Given the description of an element on the screen output the (x, y) to click on. 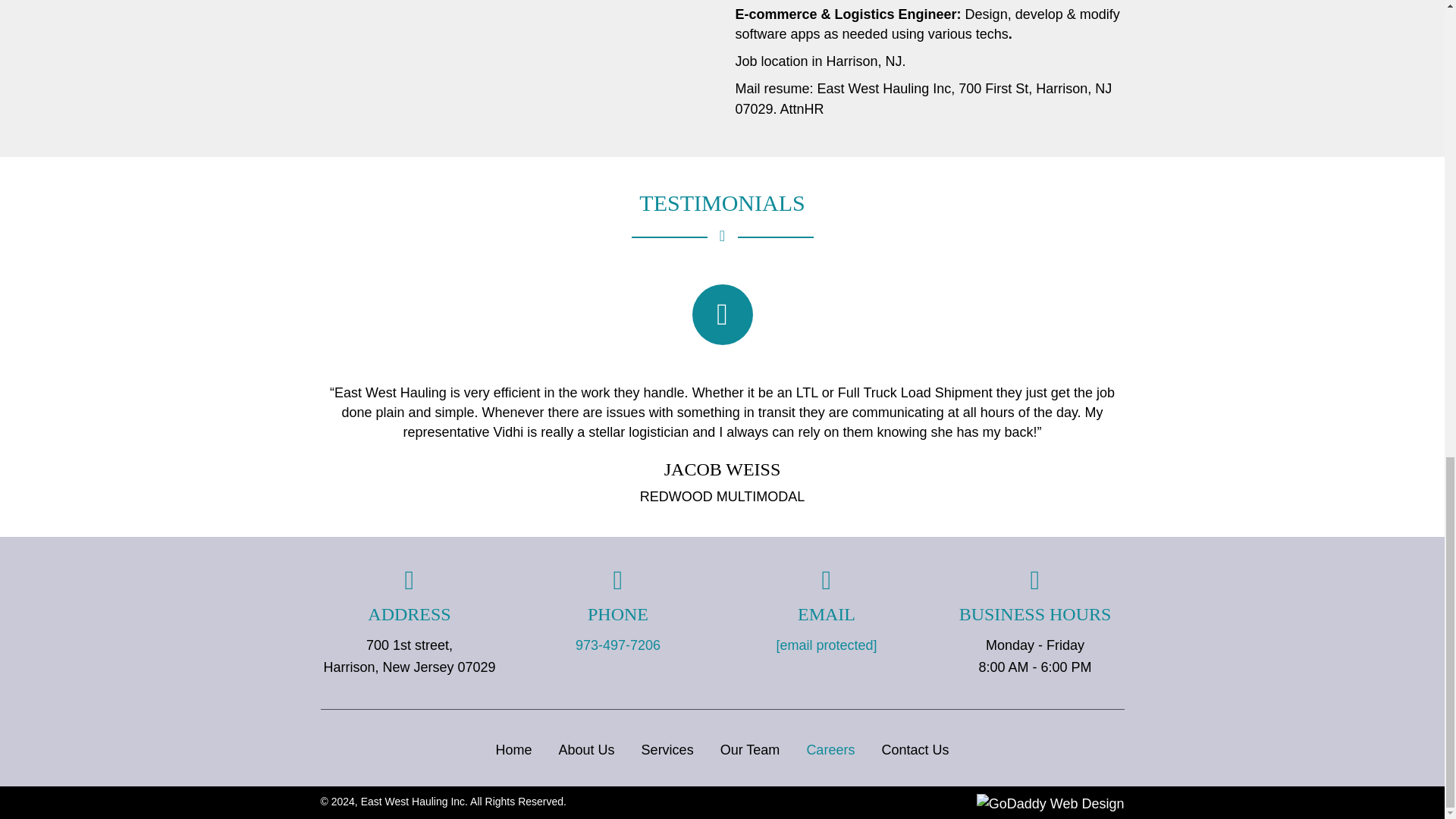
Our Team (750, 749)
Services (667, 749)
Contact Us (914, 749)
Careers (830, 749)
Home (513, 749)
About Us (586, 749)
973-497-7206 (618, 645)
